Given the description of an element on the screen output the (x, y) to click on. 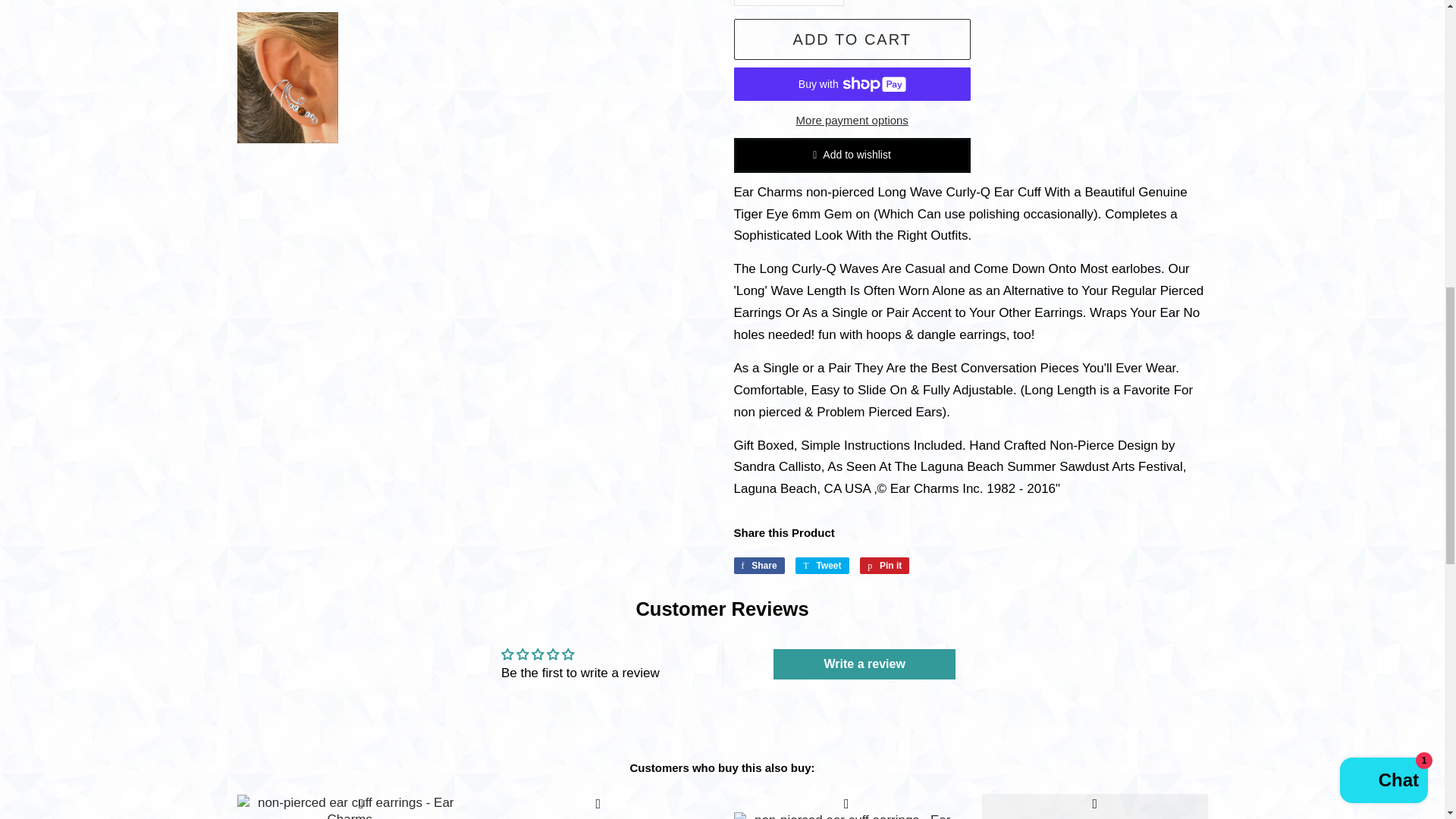
Share on Facebook (758, 565)
Tweet on Twitter (821, 565)
Pin on Pinterest (884, 565)
